Given the description of an element on the screen output the (x, y) to click on. 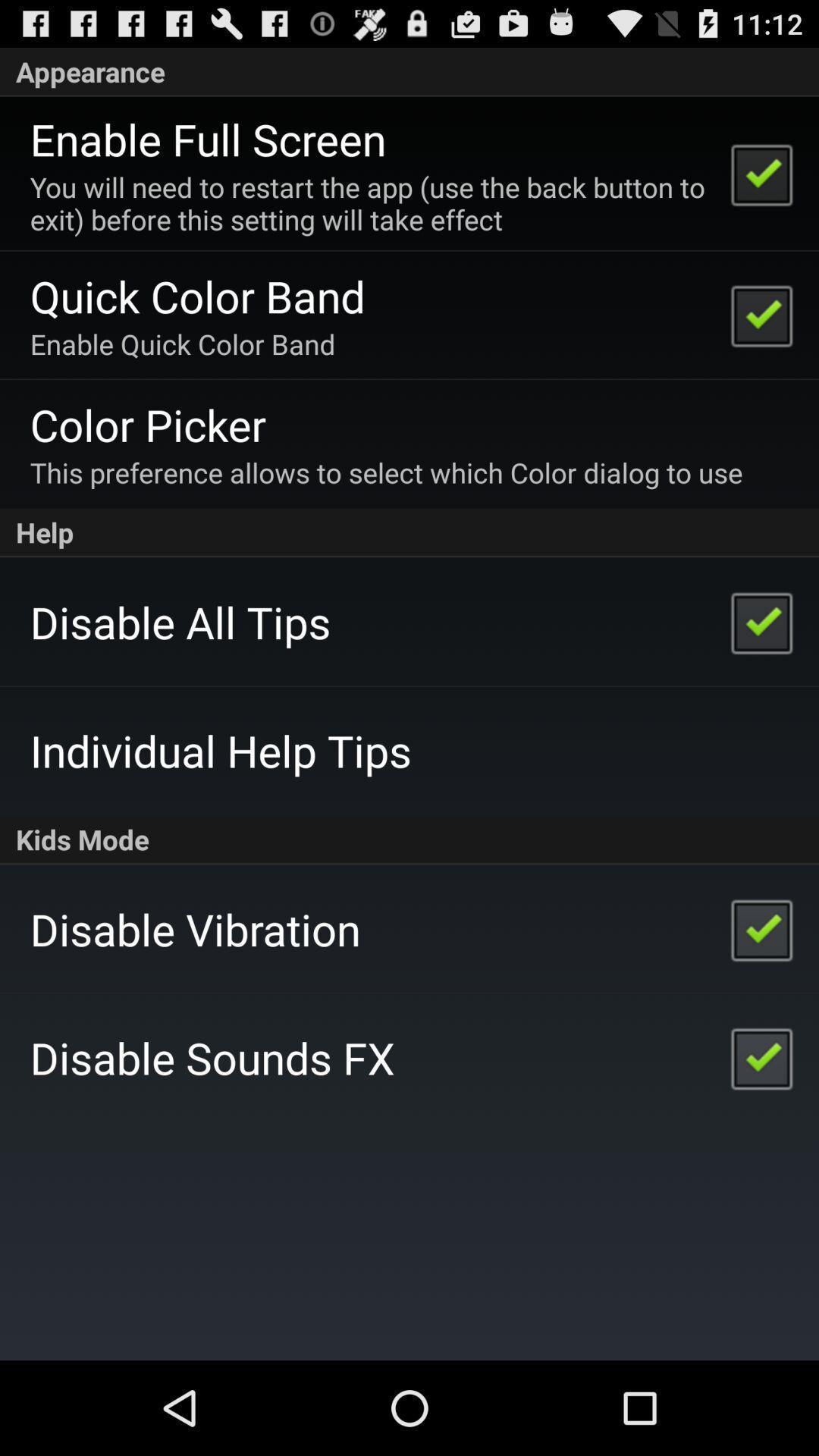
swipe to the disable vibration (195, 928)
